Given the description of an element on the screen output the (x, y) to click on. 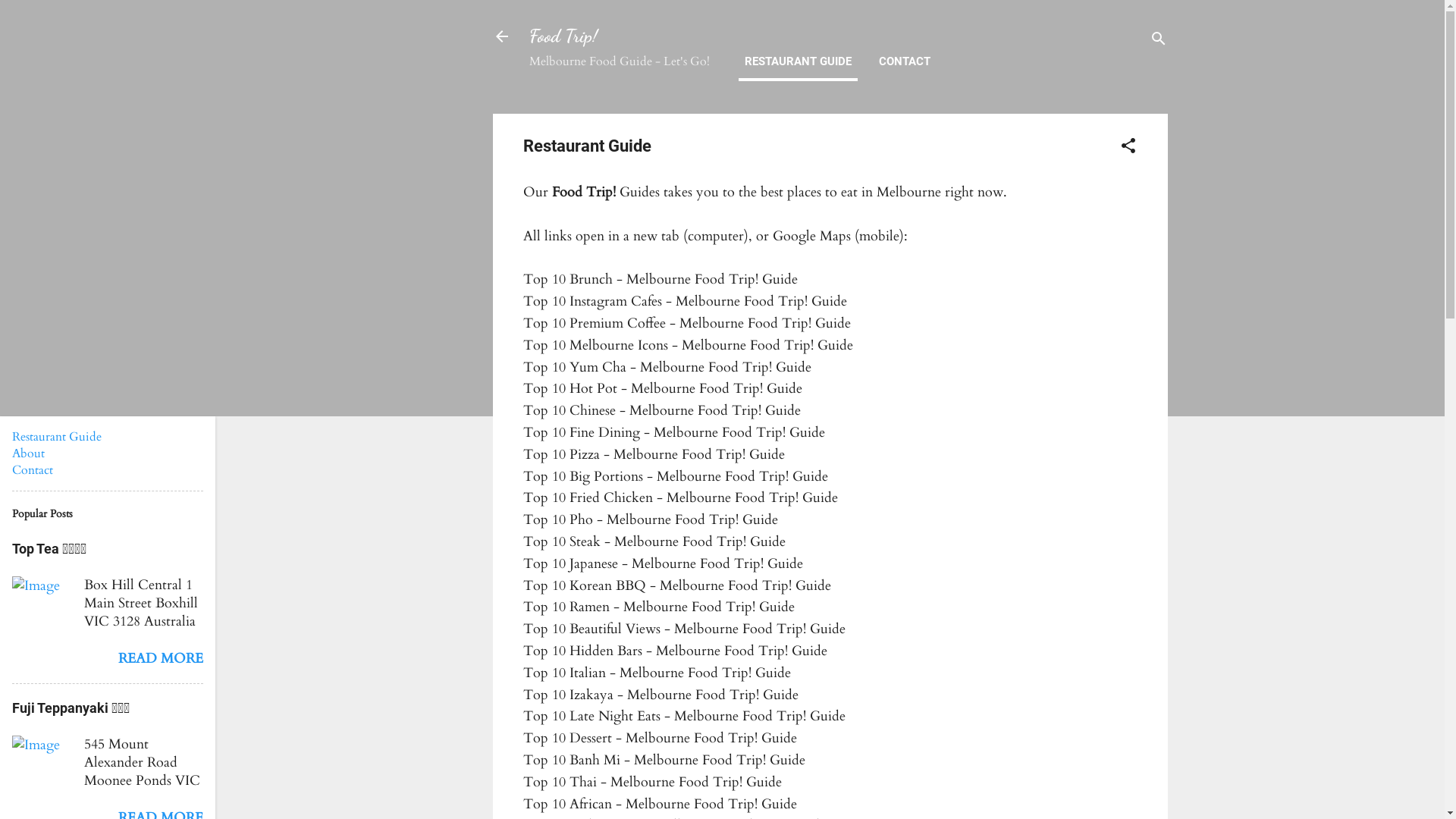
Food Trip! Element type: text (563, 36)
Contact Element type: text (32, 469)
READ MORE Element type: text (160, 658)
CONTACT Element type: text (903, 61)
Search Element type: text (30, 18)
RESTAURANT GUIDE Element type: text (797, 61)
About Element type: text (28, 453)
Restaurant Guide Element type: text (56, 436)
